Given the description of an element on the screen output the (x, y) to click on. 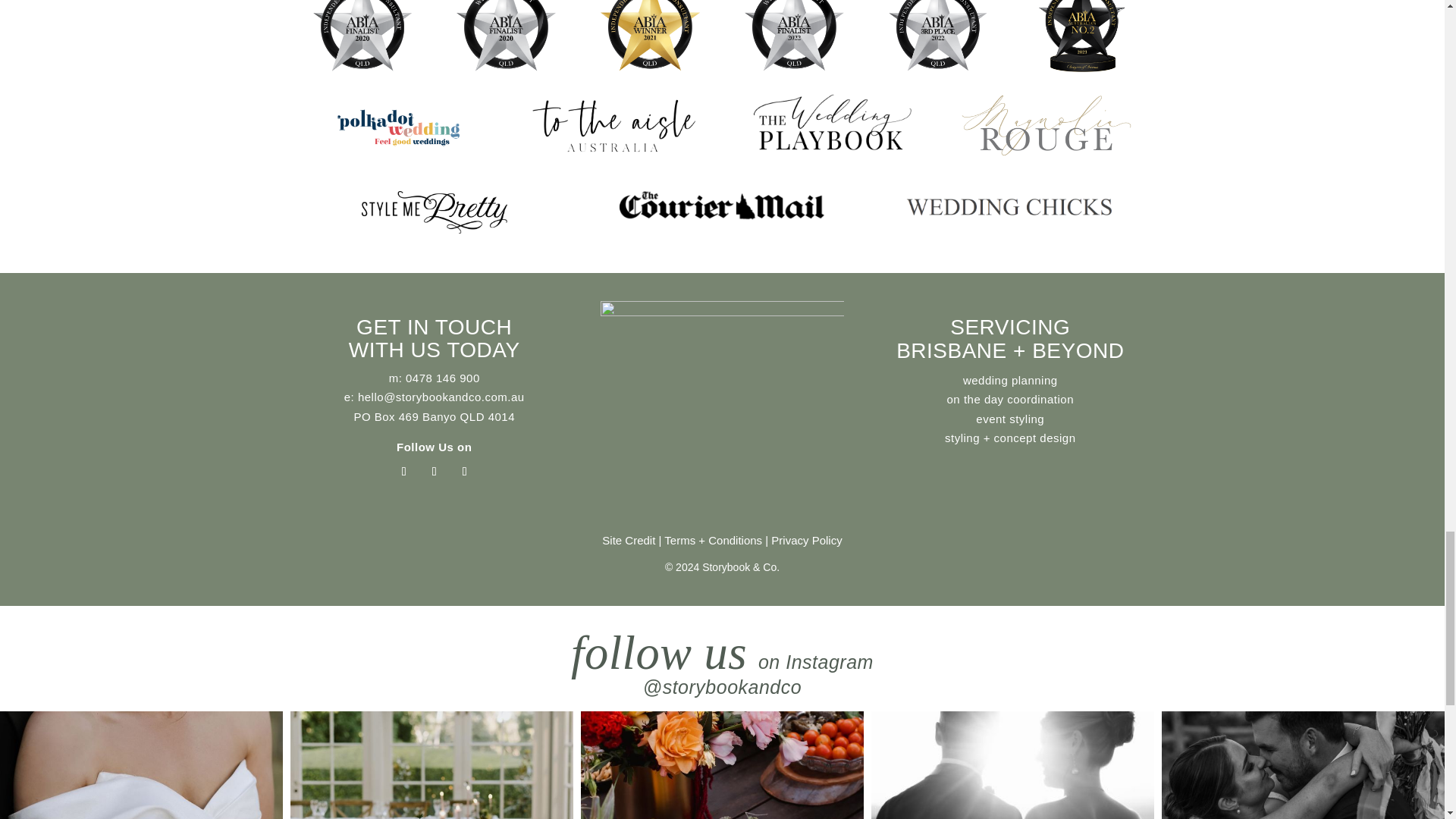
on the day coordination (1010, 399)
event styling (1009, 418)
Site Credit  (630, 540)
0478 146 900 (443, 377)
wedding planning (1010, 379)
